Given the description of an element on the screen output the (x, y) to click on. 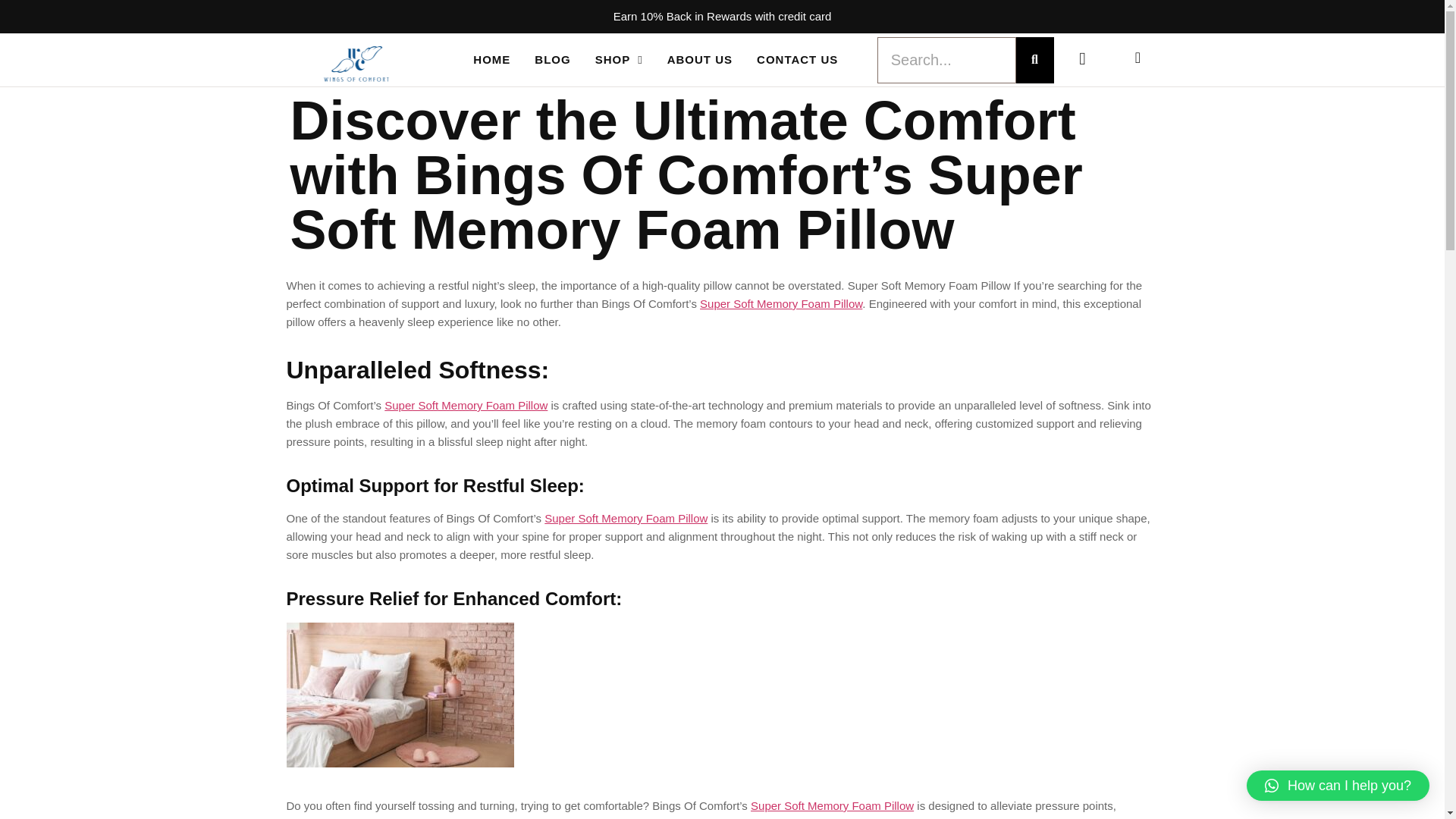
Super Soft Memory Foam Pillow (832, 805)
CONTACT US (797, 59)
SHOP (619, 59)
Super Soft Memory Foam Pillow (780, 303)
Search (946, 59)
Super Soft Memory Foam Pillow (465, 404)
ABOUT US (699, 59)
Super Soft Memory Foam Pillow (625, 517)
